Given the description of an element on the screen output the (x, y) to click on. 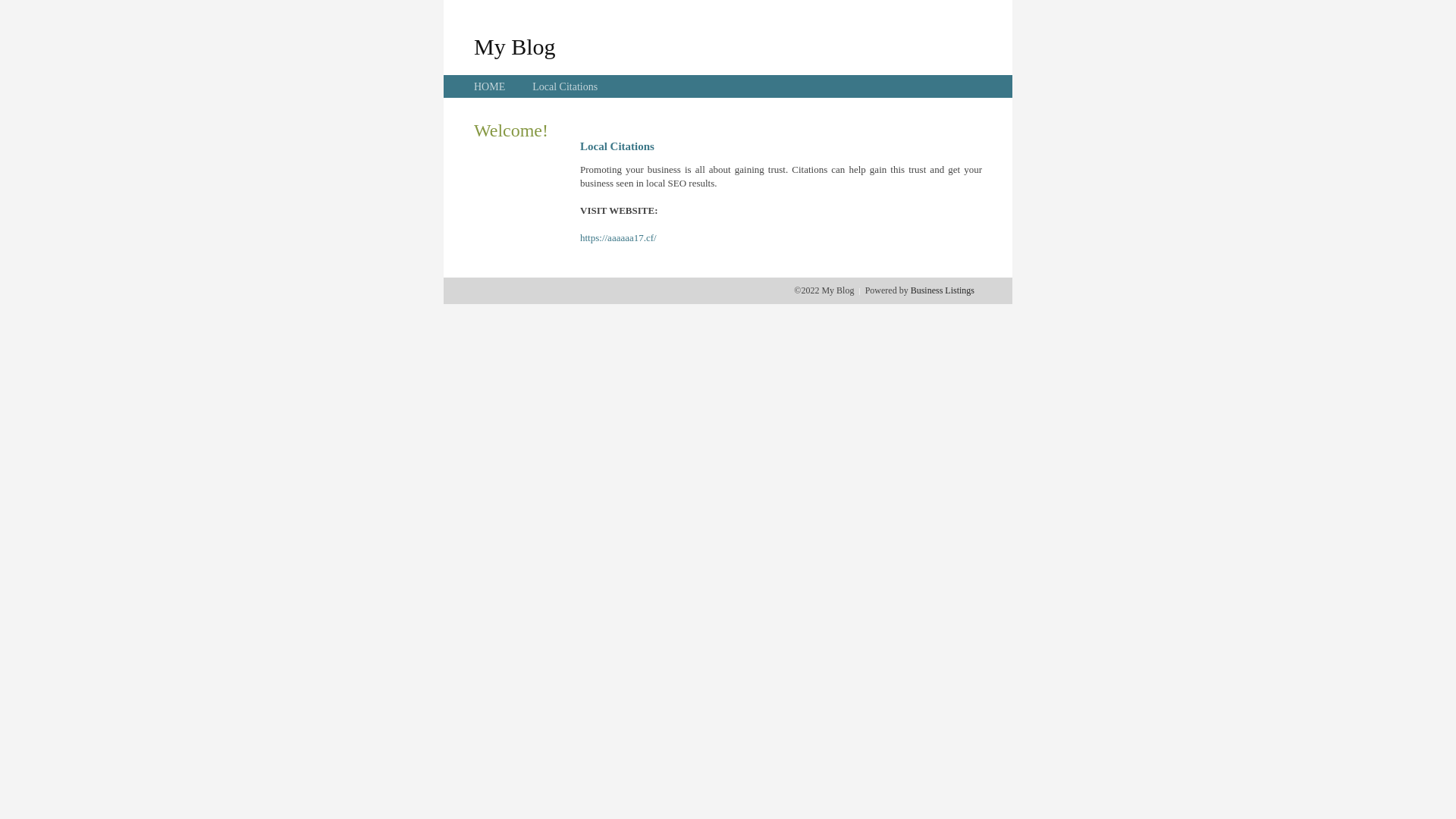
https://aaaaaa17.cf/ Element type: text (618, 237)
My Blog Element type: text (514, 46)
Business Listings Element type: text (942, 290)
Local Citations Element type: text (564, 86)
HOME Element type: text (489, 86)
